Given the description of an element on the screen output the (x, y) to click on. 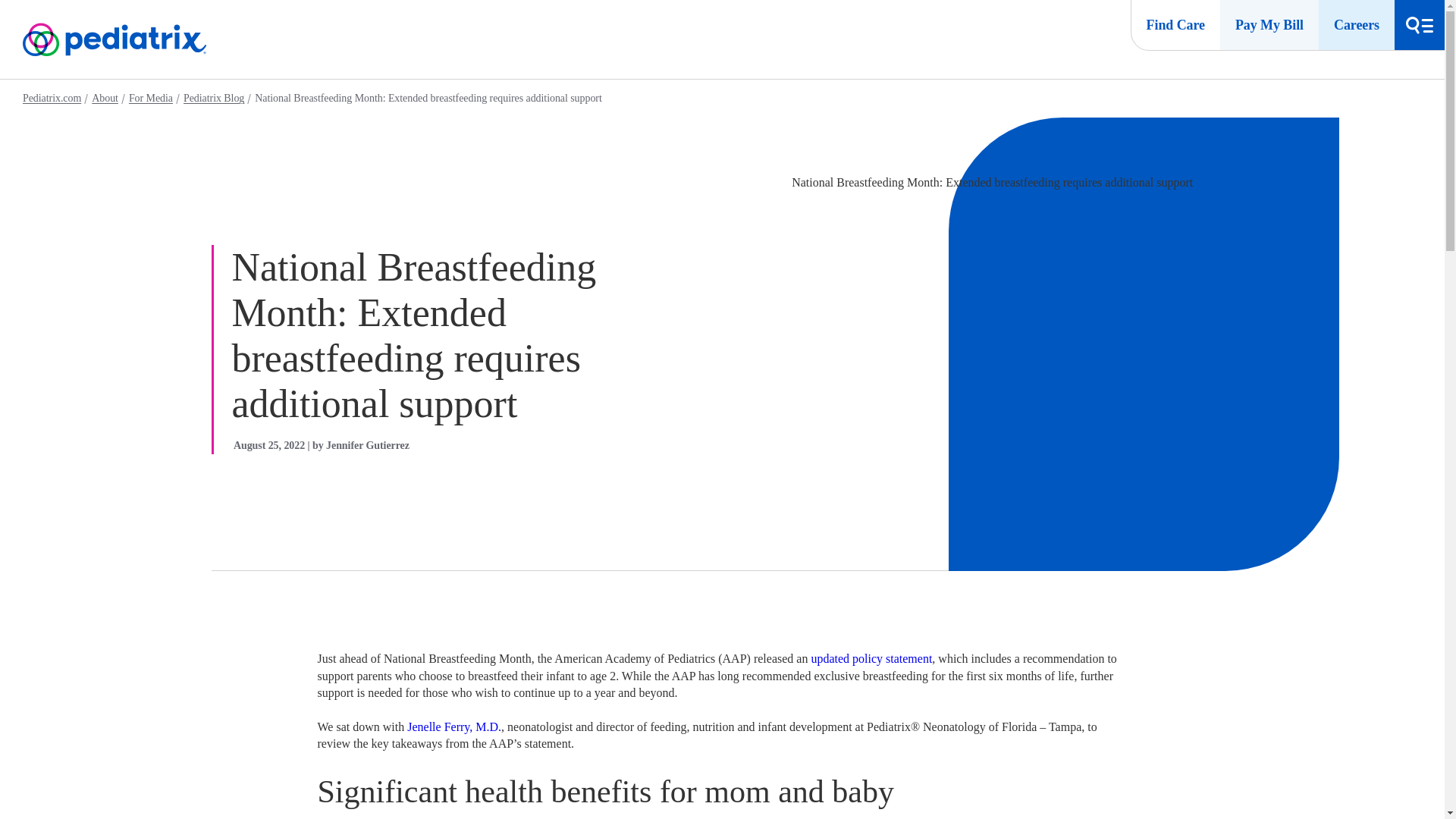
Pay My Bill (1269, 24)
Careers (1356, 24)
Find Care (1175, 24)
